Given the description of an element on the screen output the (x, y) to click on. 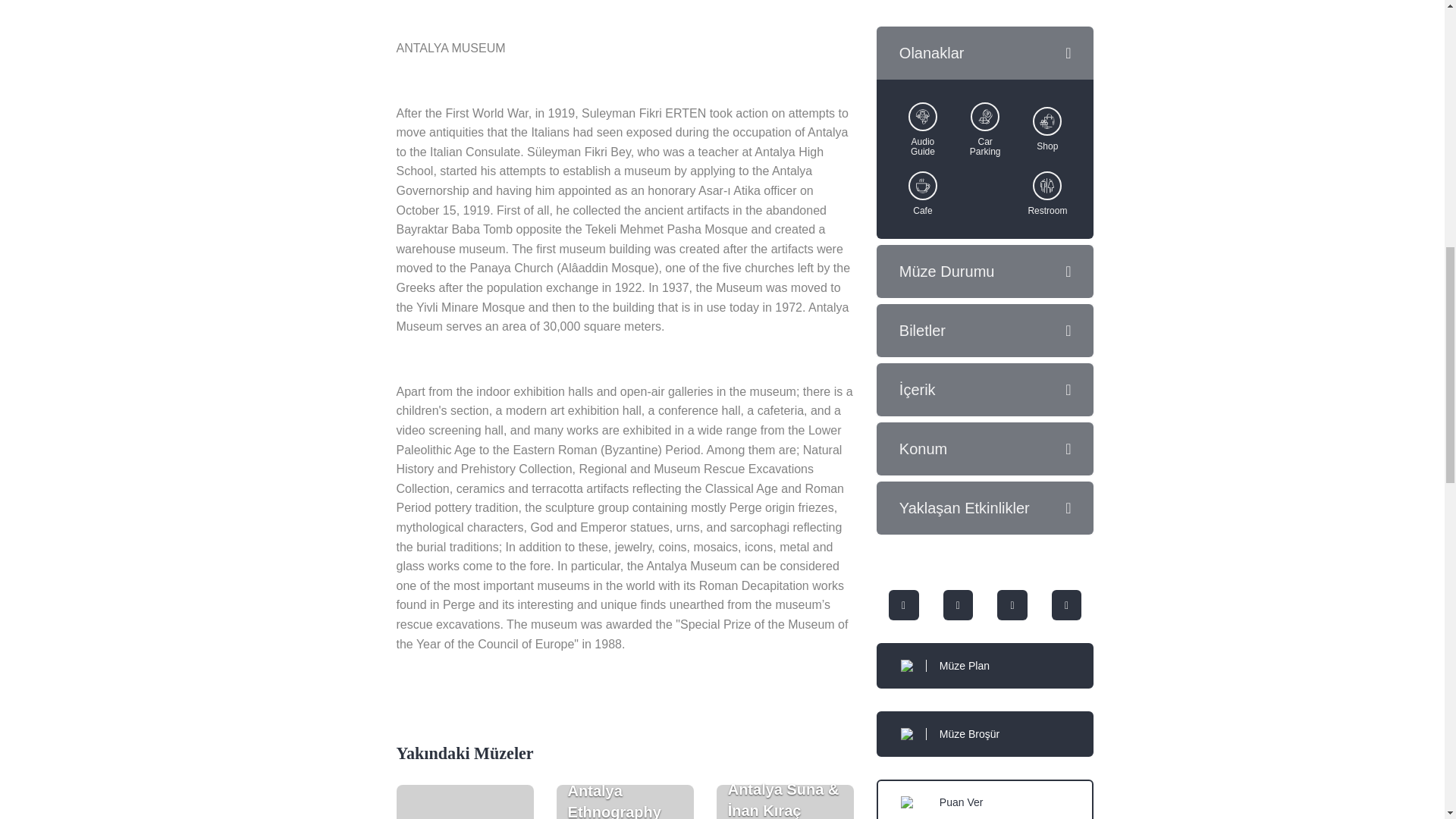
Puan Ver (985, 799)
Konum (985, 448)
Olanaklar (985, 52)
Biletler (464, 801)
